Given the description of an element on the screen output the (x, y) to click on. 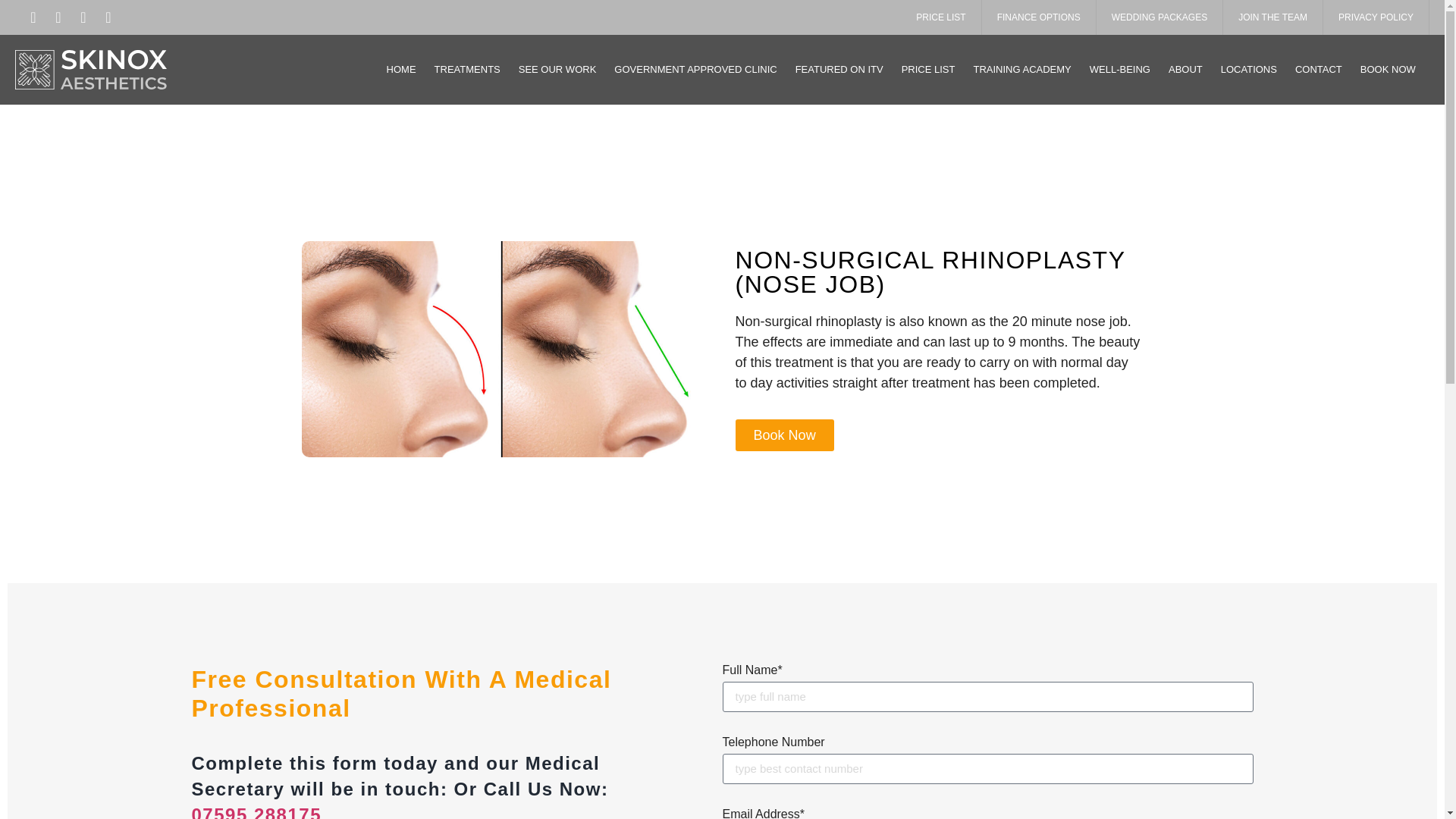
FINANCE OPTIONS (1038, 17)
HOME (401, 69)
TREATMENTS (467, 69)
JOIN THE TEAM (1273, 17)
PRIVACY POLICY (1376, 17)
PRICE LIST (941, 17)
WEDDING PACKAGES (1159, 17)
